Given the description of an element on the screen output the (x, y) to click on. 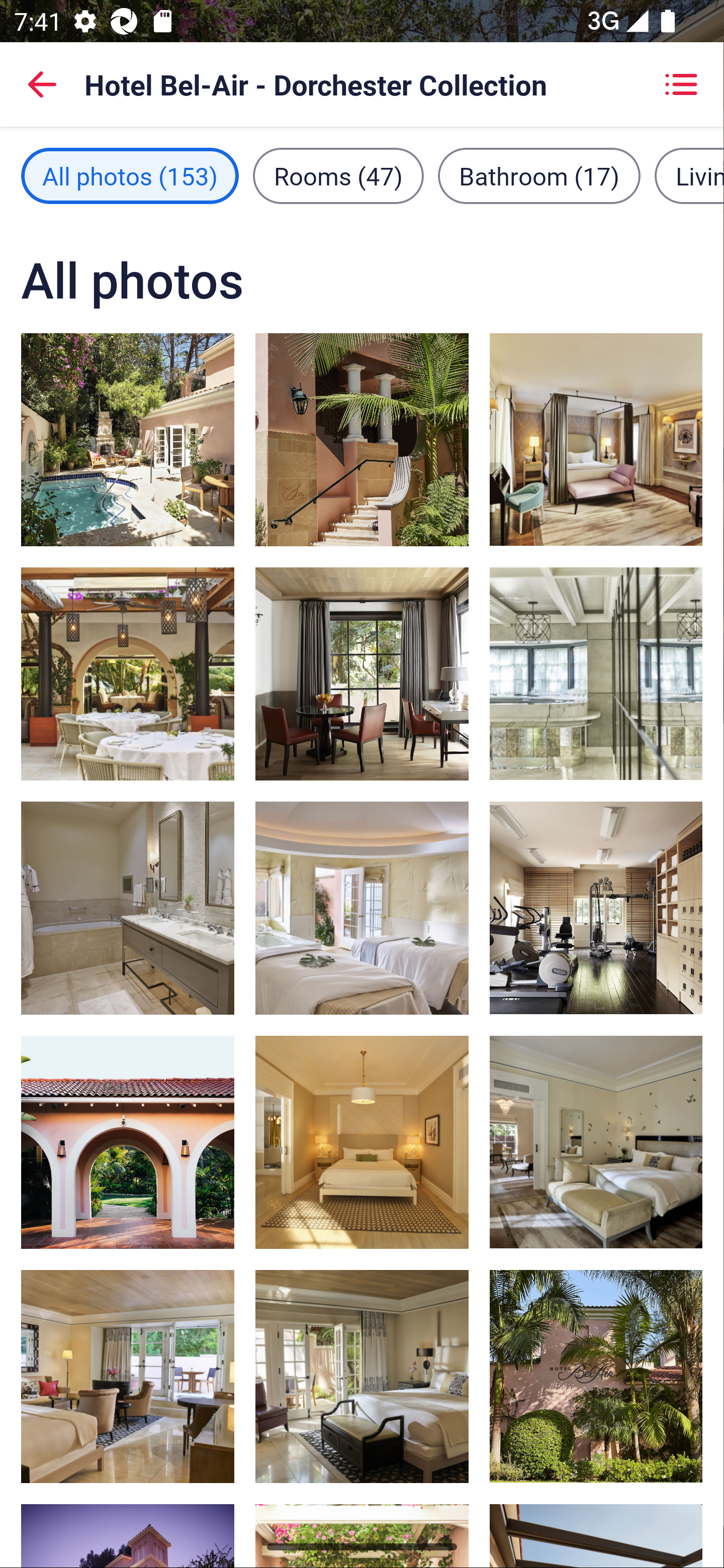
Back (42, 84)
Showing grid view (681, 84)
All photos filter, 153 images (129, 175)
Rooms filter, 47 images (337, 175)
Bathroom filter, 17 images (539, 175)
Living area filter, 22 images (688, 175)
Stone Canyon Suite | Terrace/patio, image (127, 438)
Exterior, image (361, 438)
Meeting facility, image (595, 673)
Gym, image (595, 907)
Property grounds, image (127, 1142)
Front of property, image (595, 1376)
